Given the description of an element on the screen output the (x, y) to click on. 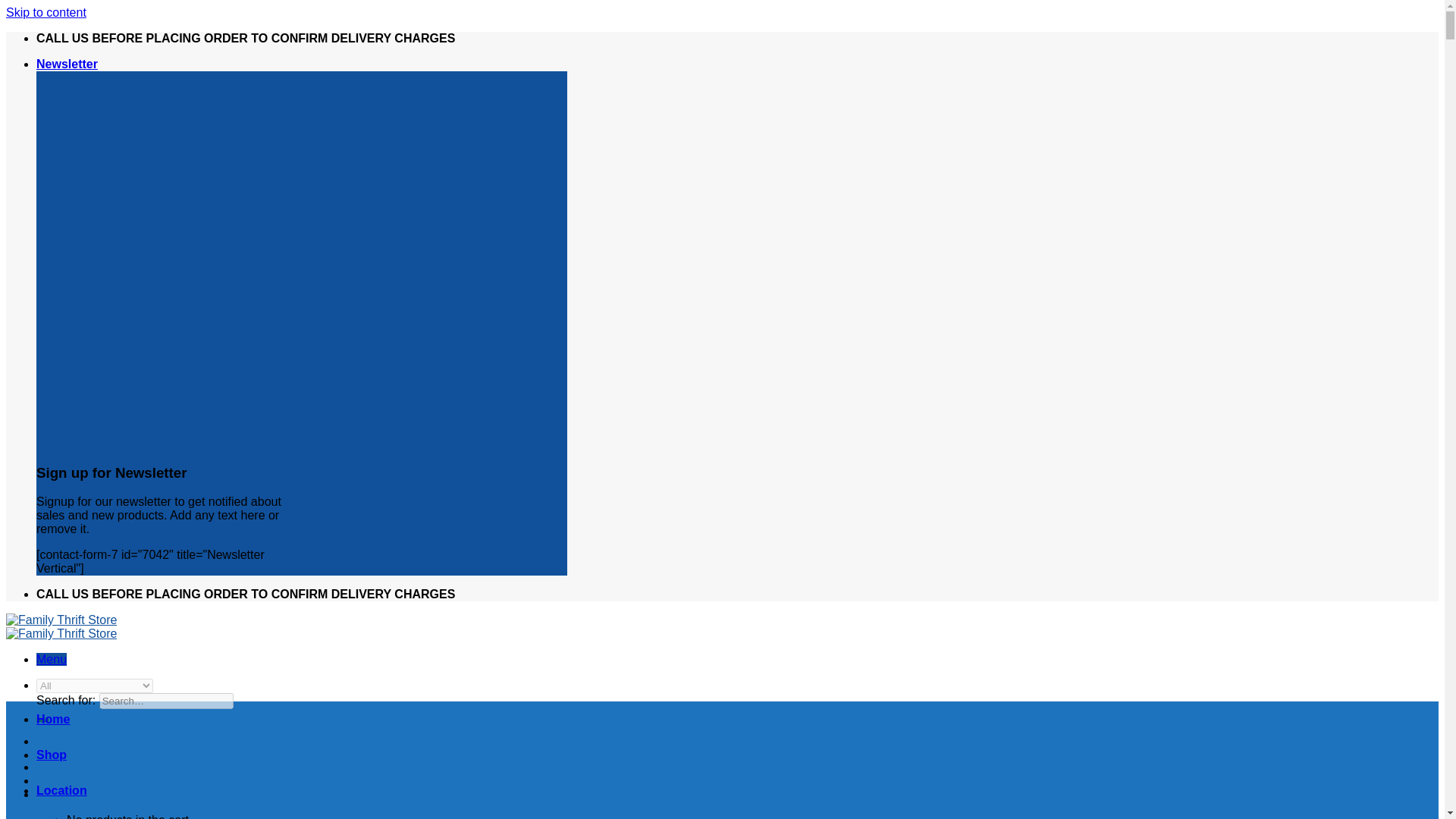
Family Thrift Store - Family Thrift Store (60, 626)
Sign up for Newsletter (66, 63)
Shop (51, 754)
Menu (51, 658)
Search (42, 719)
Home (52, 718)
Newsletter (66, 63)
Location (61, 789)
Skip to content (45, 11)
